Given the description of an element on the screen output the (x, y) to click on. 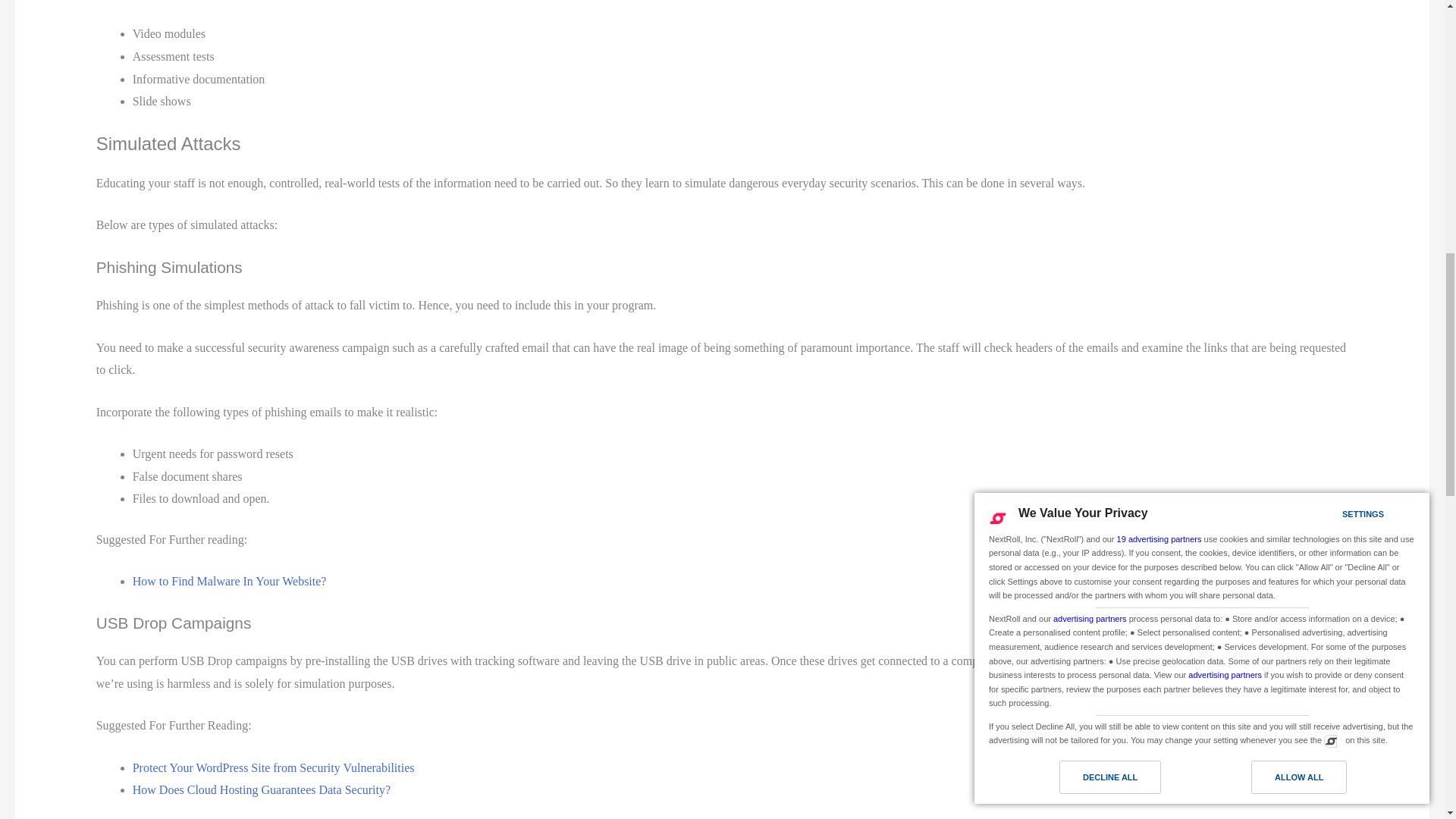
Protect Your WordPress Site from Security Vulnerabilities (273, 767)
How to Find Malware In Your Website? (229, 581)
How Does Cloud Hosting Guarantees Data Security? (261, 789)
